Given the description of an element on the screen output the (x, y) to click on. 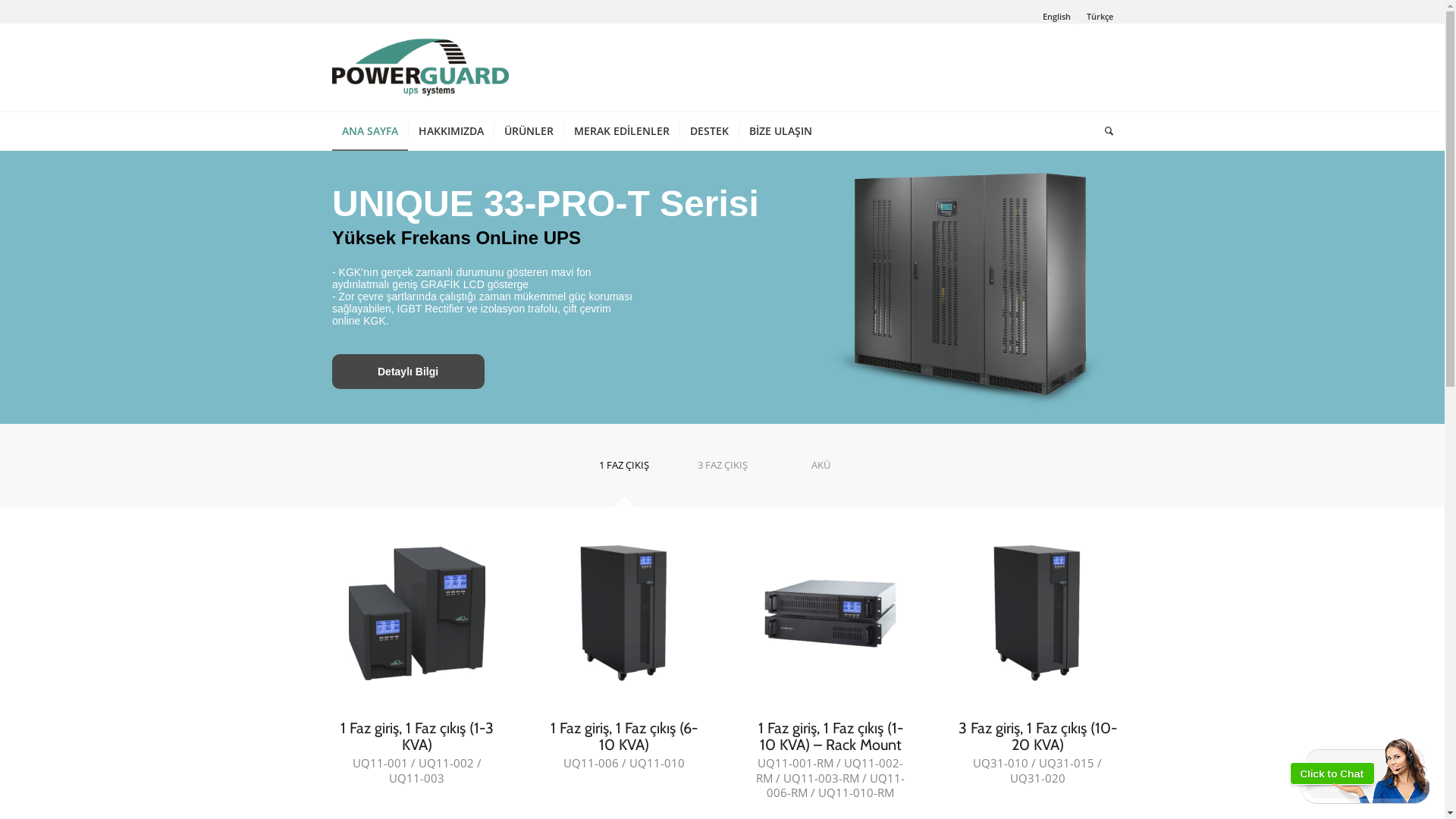
DESTEK Element type: text (708, 131)
ANA SAYFA Element type: text (369, 131)
English Element type: text (1055, 16)
logo Element type: hover (420, 67)
HAKKIMIZDA Element type: text (450, 131)
1-3K Element type: hover (416, 613)
